Given the description of an element on the screen output the (x, y) to click on. 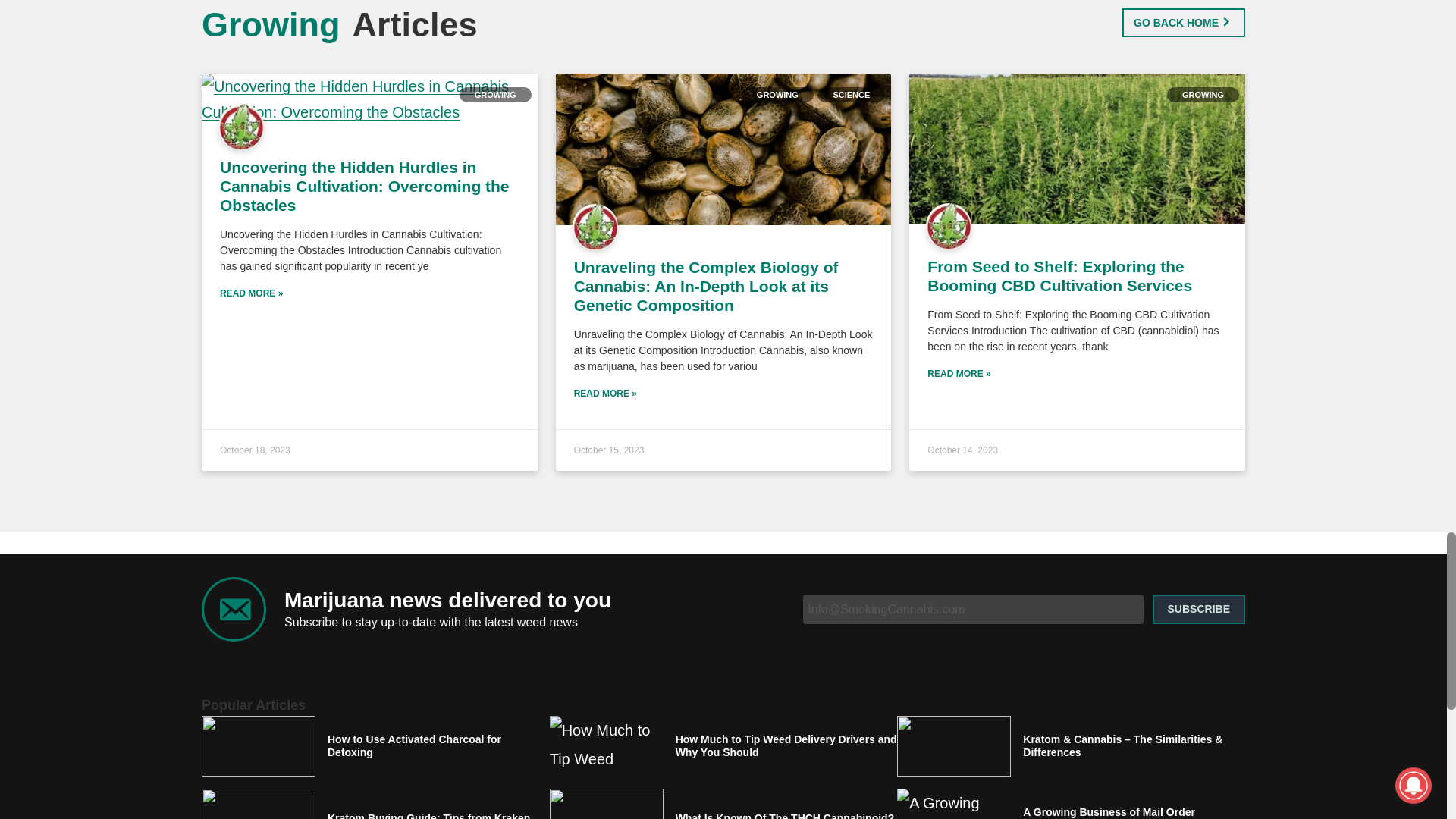
Growing (270, 24)
subscribe (1198, 609)
subscribe (1198, 609)
GROWING (1203, 94)
GO BACK HOME (1183, 22)
GROWING (777, 94)
